Given the description of an element on the screen output the (x, y) to click on. 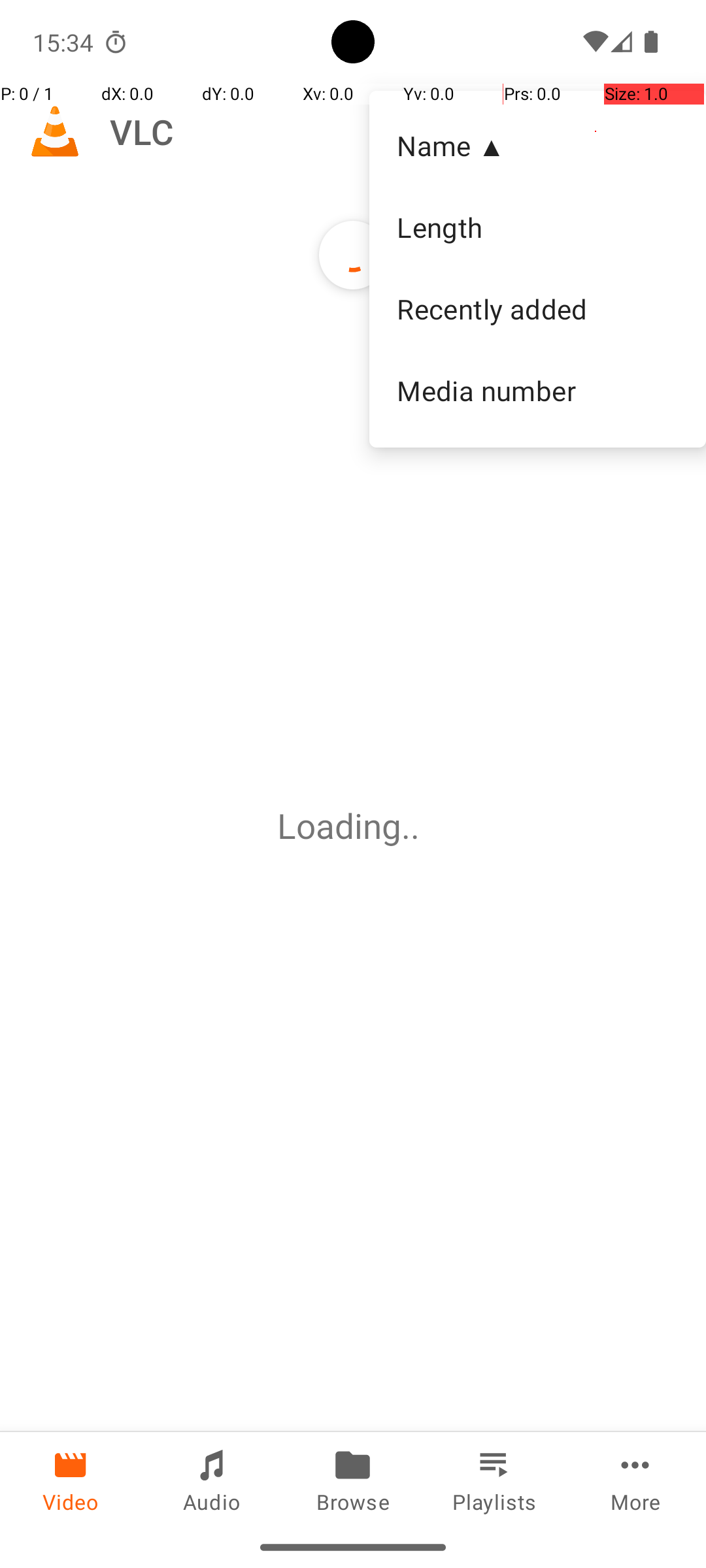
Name. Ascending Element type: android.widget.LinearLayout (537, 145)
Length Element type: android.widget.LinearLayout (537, 227)
Recently added Element type: android.widget.LinearLayout (537, 308)
Name ▲ Element type: android.widget.TextView (537, 145)
Media number Element type: android.widget.TextView (537, 389)
